Given the description of an element on the screen output the (x, y) to click on. 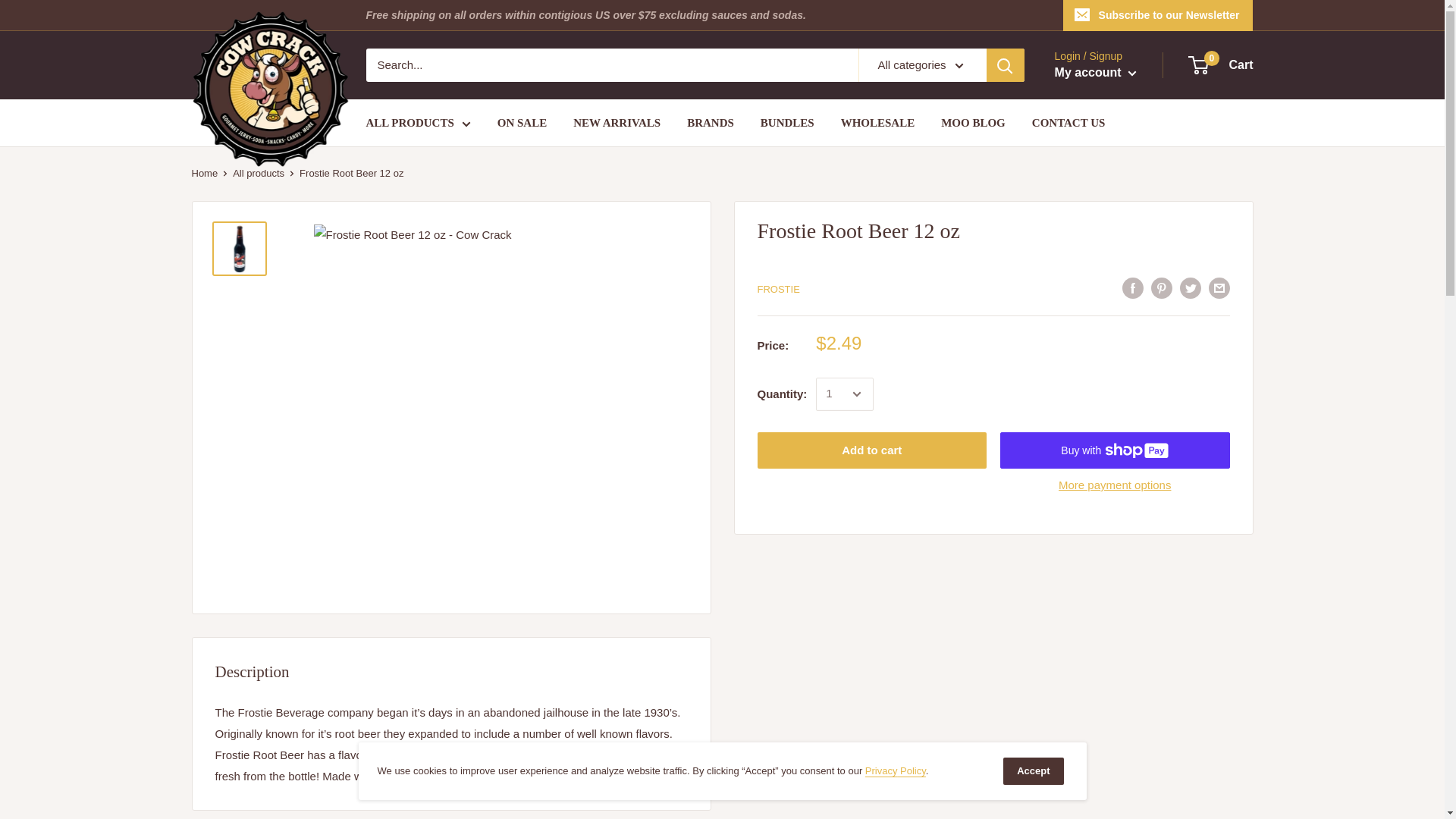
My account (1220, 65)
Subscribe to our Newsletter (1095, 72)
Privacy Policy (1157, 15)
ALL PRODUCTS (895, 770)
